Given the description of an element on the screen output the (x, y) to click on. 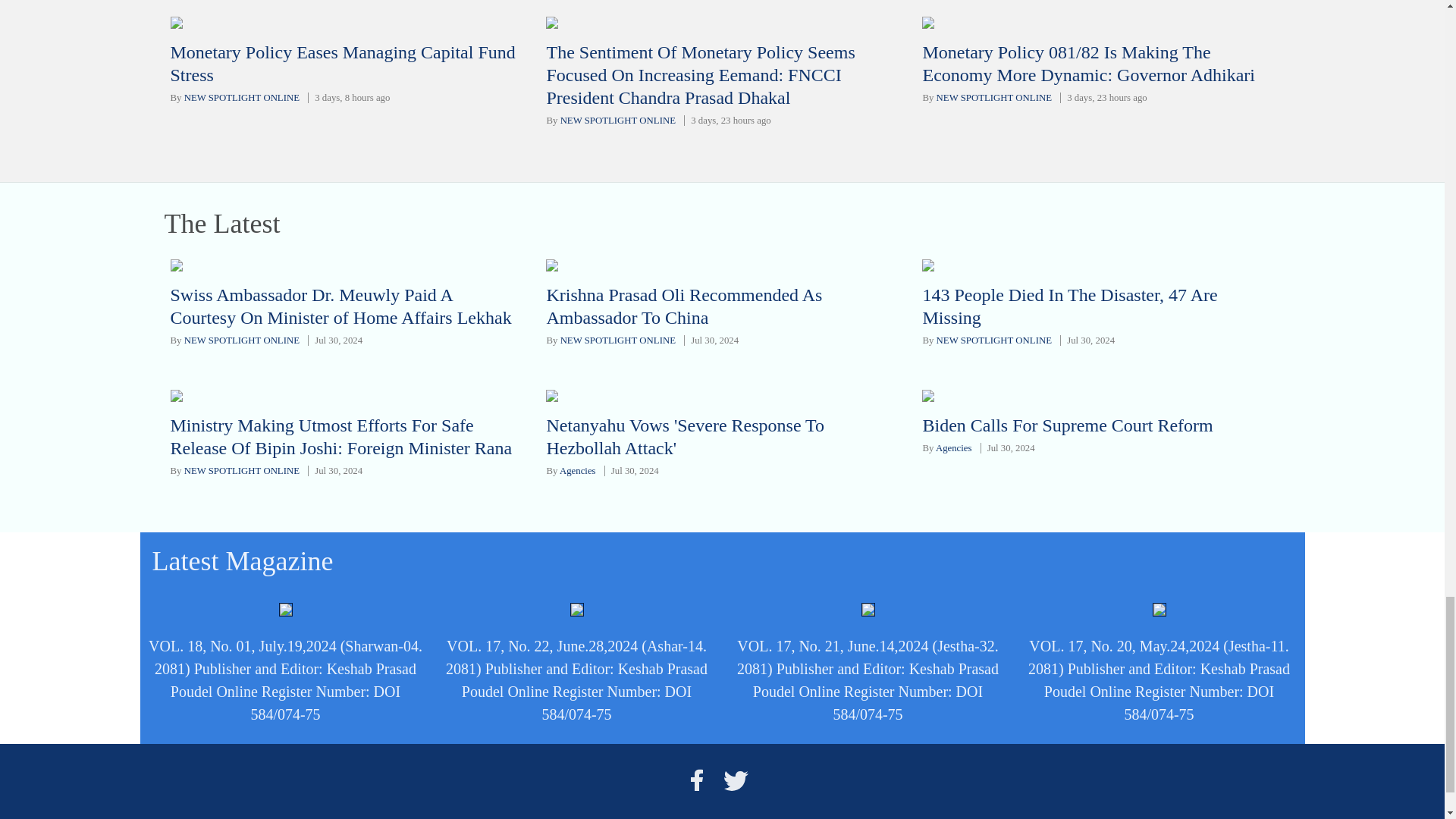
NEW SPOTLIGHT ONLINE (617, 120)
Monetary Policy Eases Managing Capital Fund Stress (342, 63)
facebook icon (695, 780)
Spotlight Nepal Facebook (695, 780)
NEW SPOTLIGHT ONLINE (241, 97)
NEW SPOTLIGHT ONLINE (993, 97)
twitter icon (735, 780)
Spotlight Nepal Twitter (735, 780)
